Given the description of an element on the screen output the (x, y) to click on. 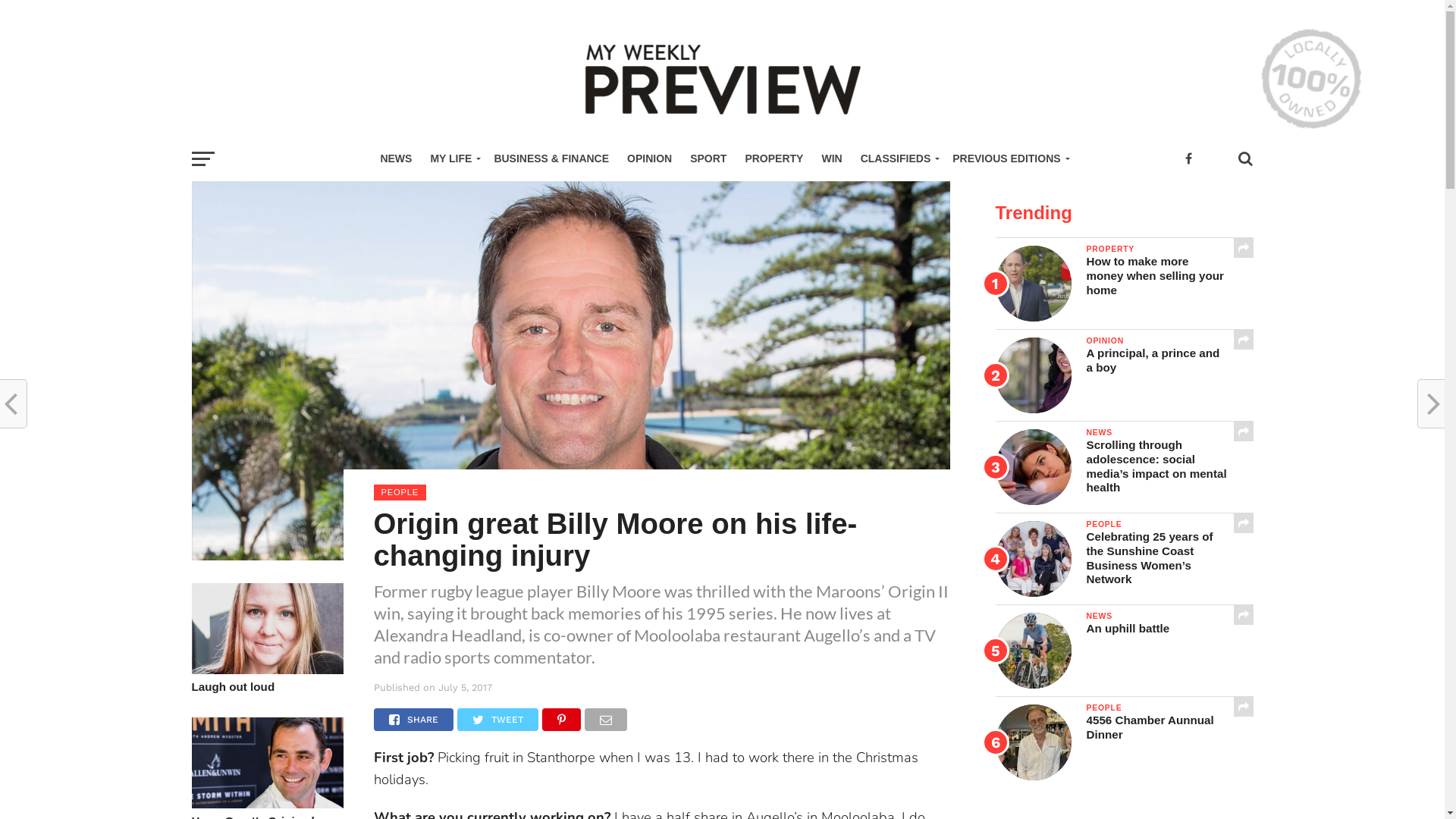
Laugh out loud Element type: hover (266, 669)
OPINION Element type: text (649, 159)
PREVIOUS EDITIONS Element type: text (1008, 159)
WIN Element type: text (831, 159)
CLASSIFIEDS Element type: text (897, 159)
MY LIFE Element type: text (452, 159)
BUSINESS & FINANCE Element type: text (551, 159)
Laugh out loud Element type: text (266, 687)
NEWS Element type: text (395, 159)
SPORT Element type: text (707, 159)
PROPERTY Element type: text (773, 159)
